Given the description of an element on the screen output the (x, y) to click on. 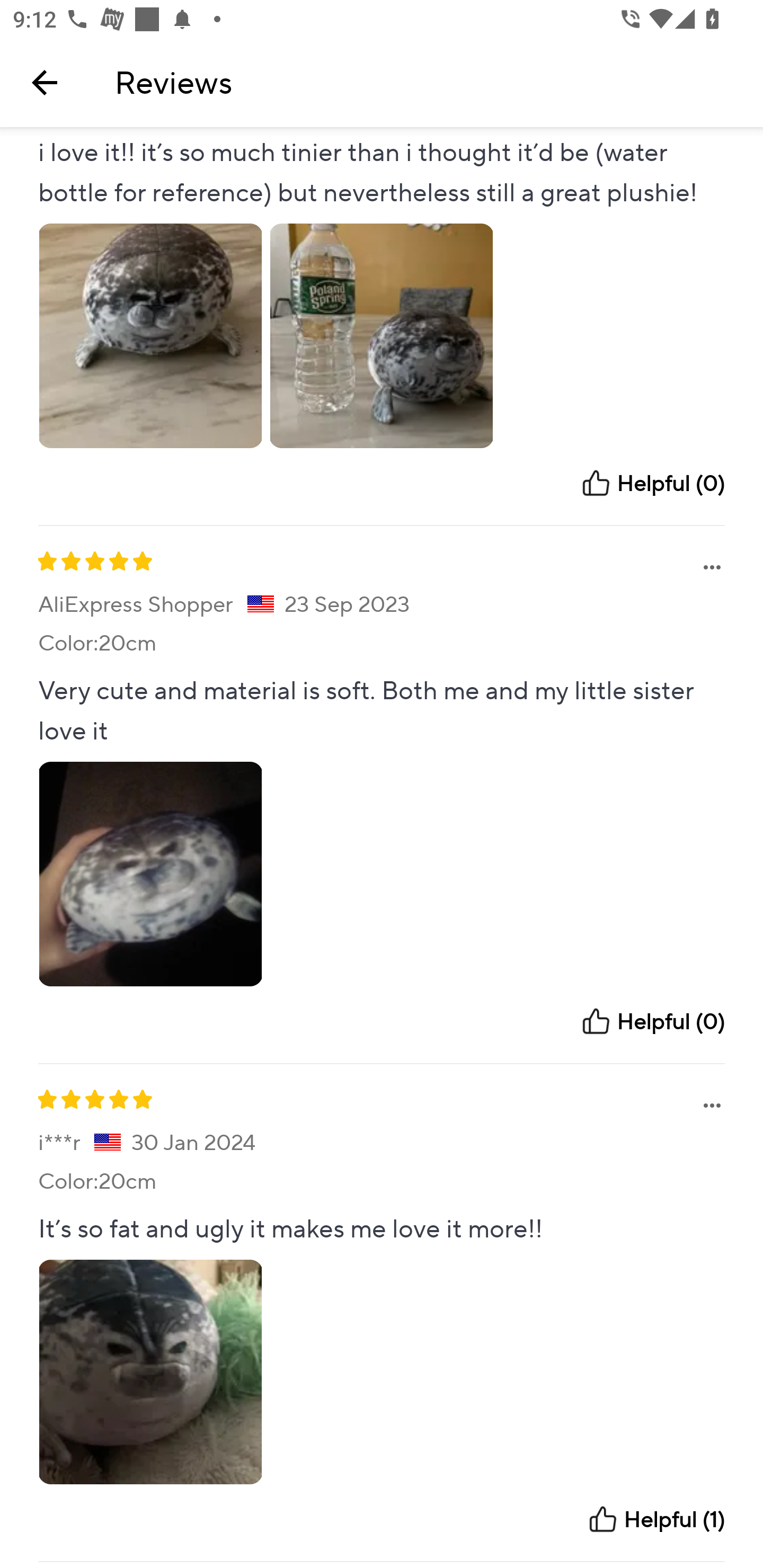
Navigate up (44, 82)
Helpful (0) (651, 483)
Helpful (0) (651, 1021)
Helpful (1) (655, 1519)
